Given the description of an element on the screen output the (x, y) to click on. 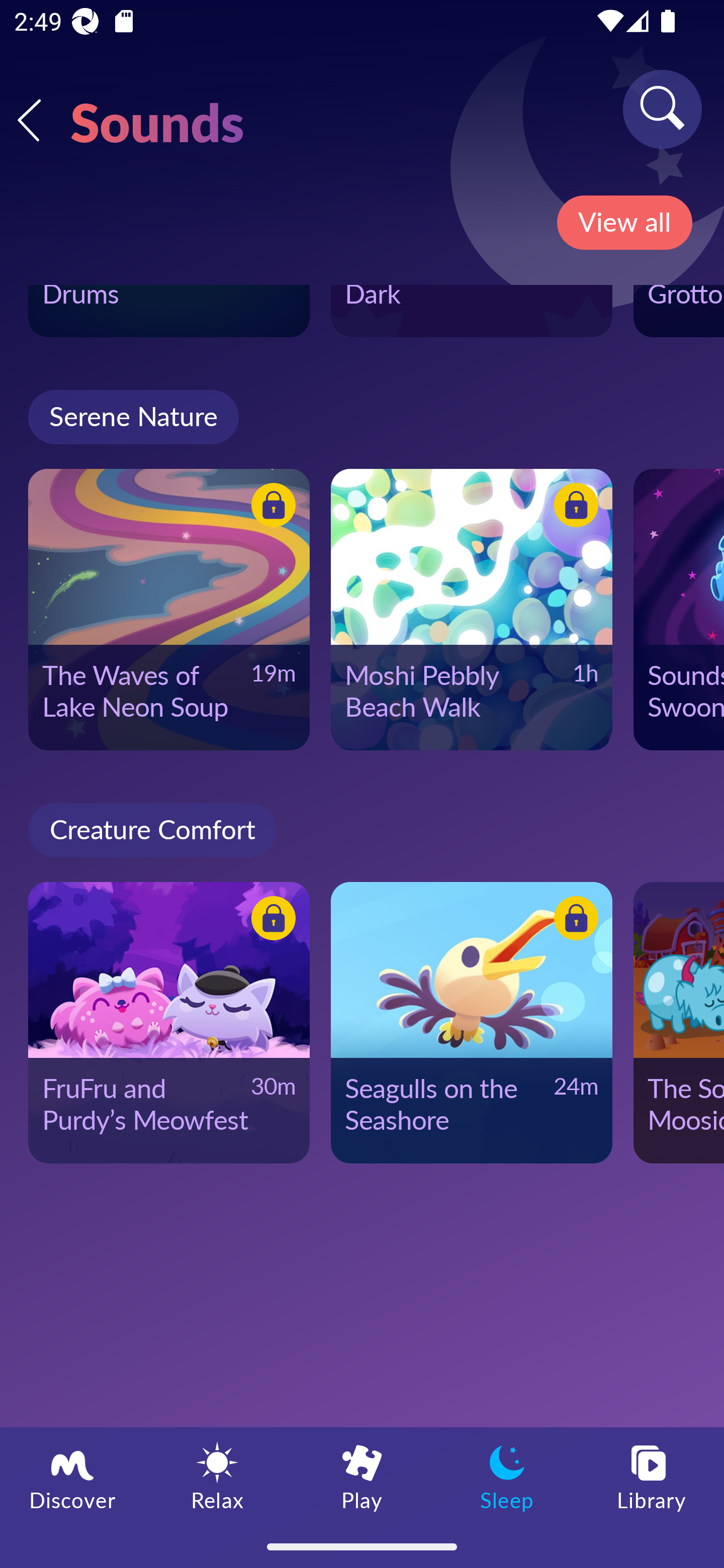
View all (624, 222)
Featured Content Button Oobla Doobla Drums 20m (168, 311)
Featured Content Button Jollywood After Dark 15m (471, 311)
Button (269, 507)
Featured Content Button Moshi Pebbly Beach Walk 1h (471, 609)
Button (573, 507)
Button (269, 920)
Button (573, 920)
Discover (72, 1475)
Relax (216, 1475)
Play (361, 1475)
Library (651, 1475)
